Given the description of an element on the screen output the (x, y) to click on. 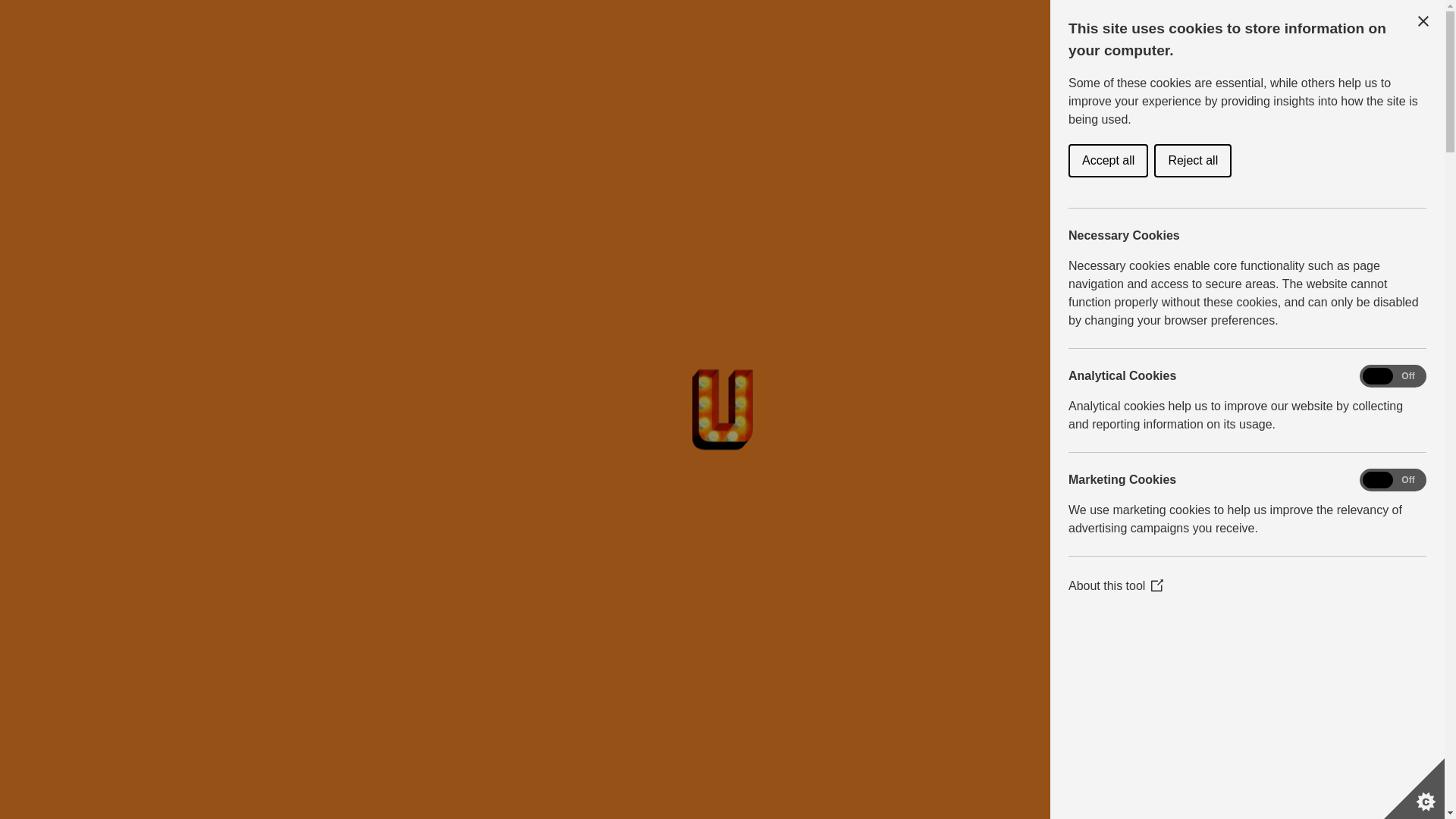
Facebook (27, 714)
Twitter (27, 769)
Accept all (1118, 160)
Umpf (67, 30)
Reject all (1195, 160)
Blog (486, 98)
Instagram (27, 742)
Umpf (431, 98)
